Given the description of an element on the screen output the (x, y) to click on. 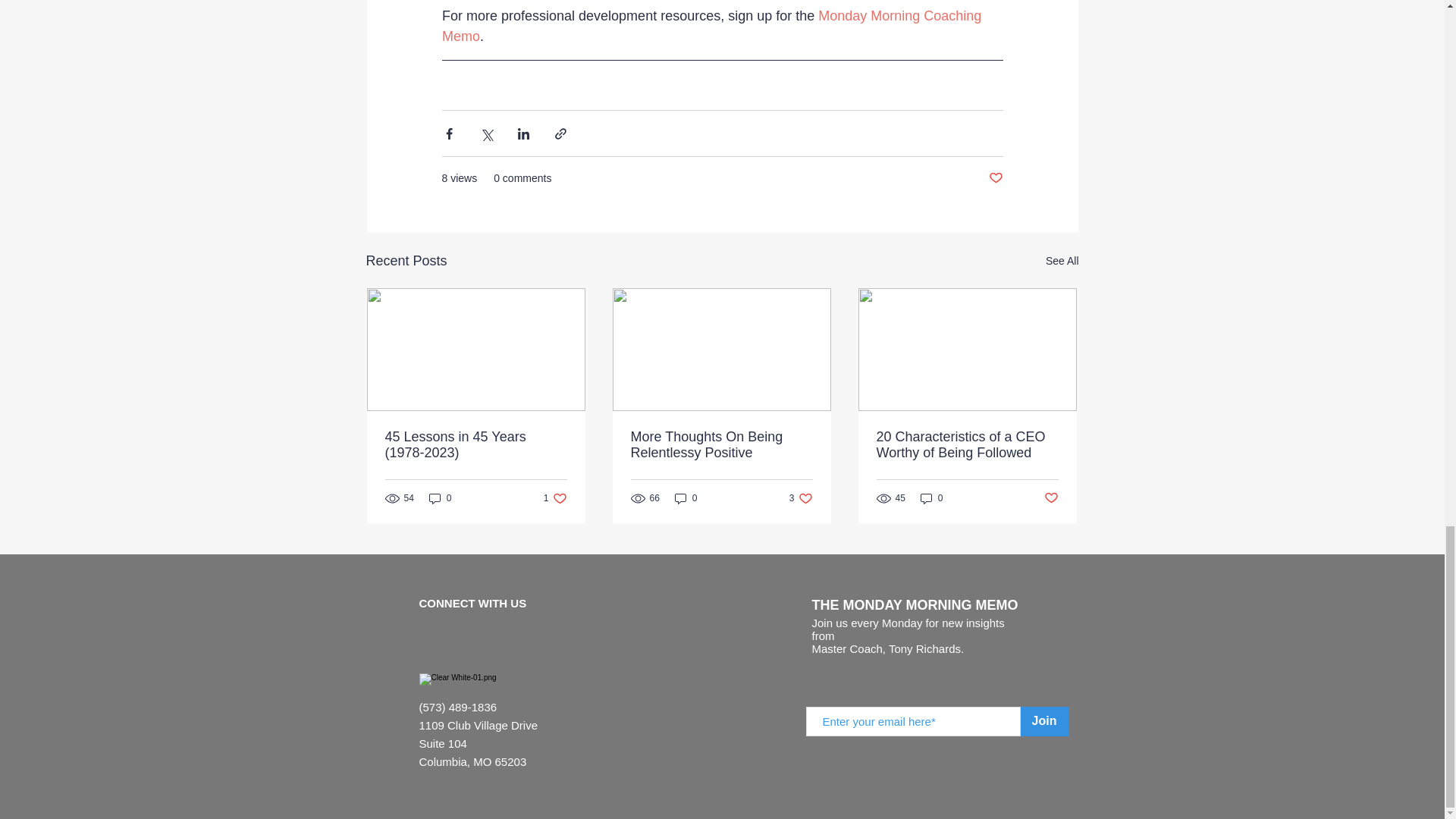
0 (685, 498)
20 Characteristics of a CEO Worthy of Being Followed (967, 445)
Monday Morning Coaching Memo (712, 26)
0 (440, 498)
Post not marked as liked (555, 498)
Join (995, 178)
More Thoughts On Being Relentlessy Positive (800, 498)
0 (1044, 721)
